Given the description of an element on the screen output the (x, y) to click on. 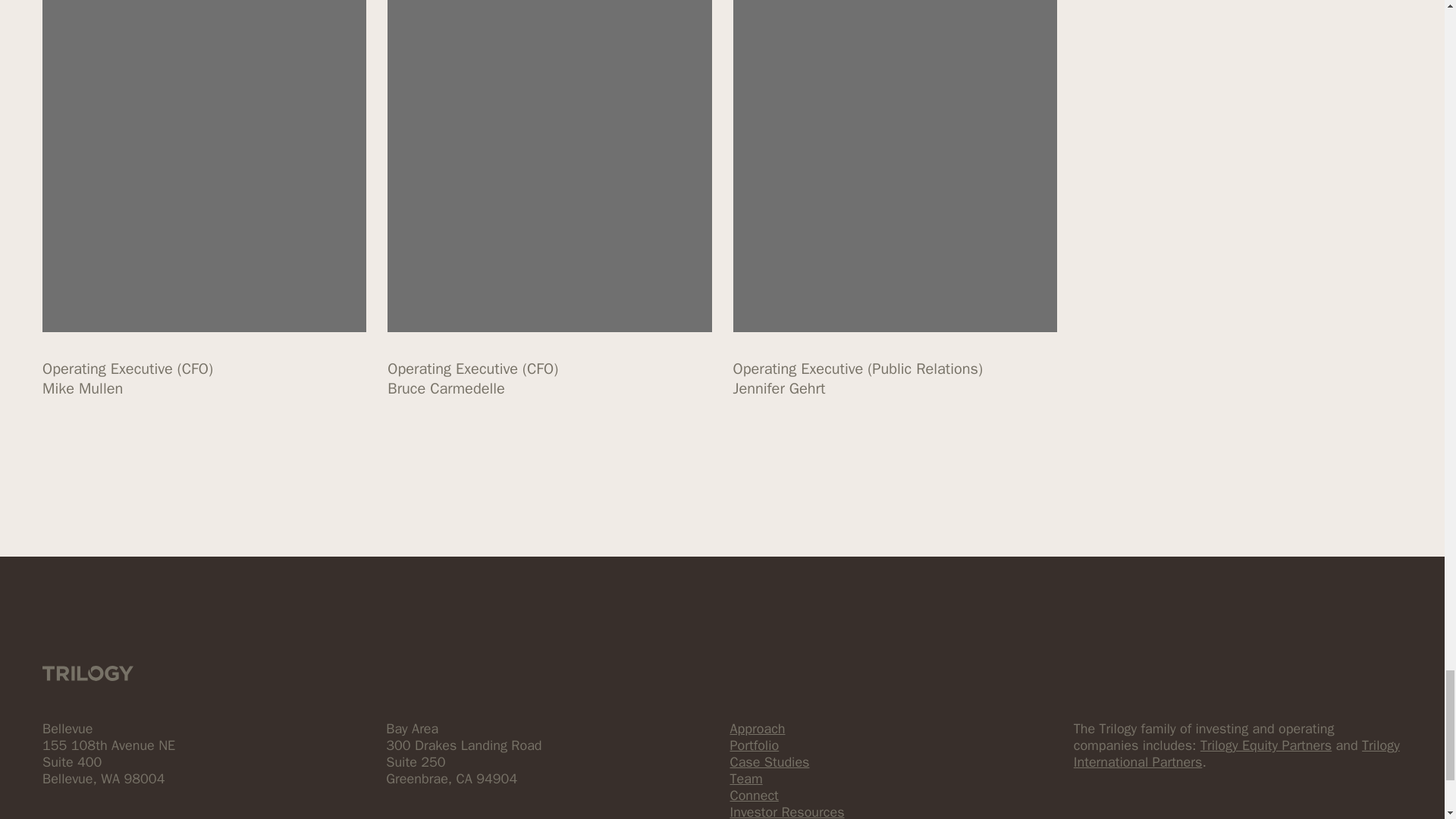
Portfolio (753, 745)
Team (745, 778)
Case Studies (769, 761)
Approach (756, 728)
